Given the description of an element on the screen output the (x, y) to click on. 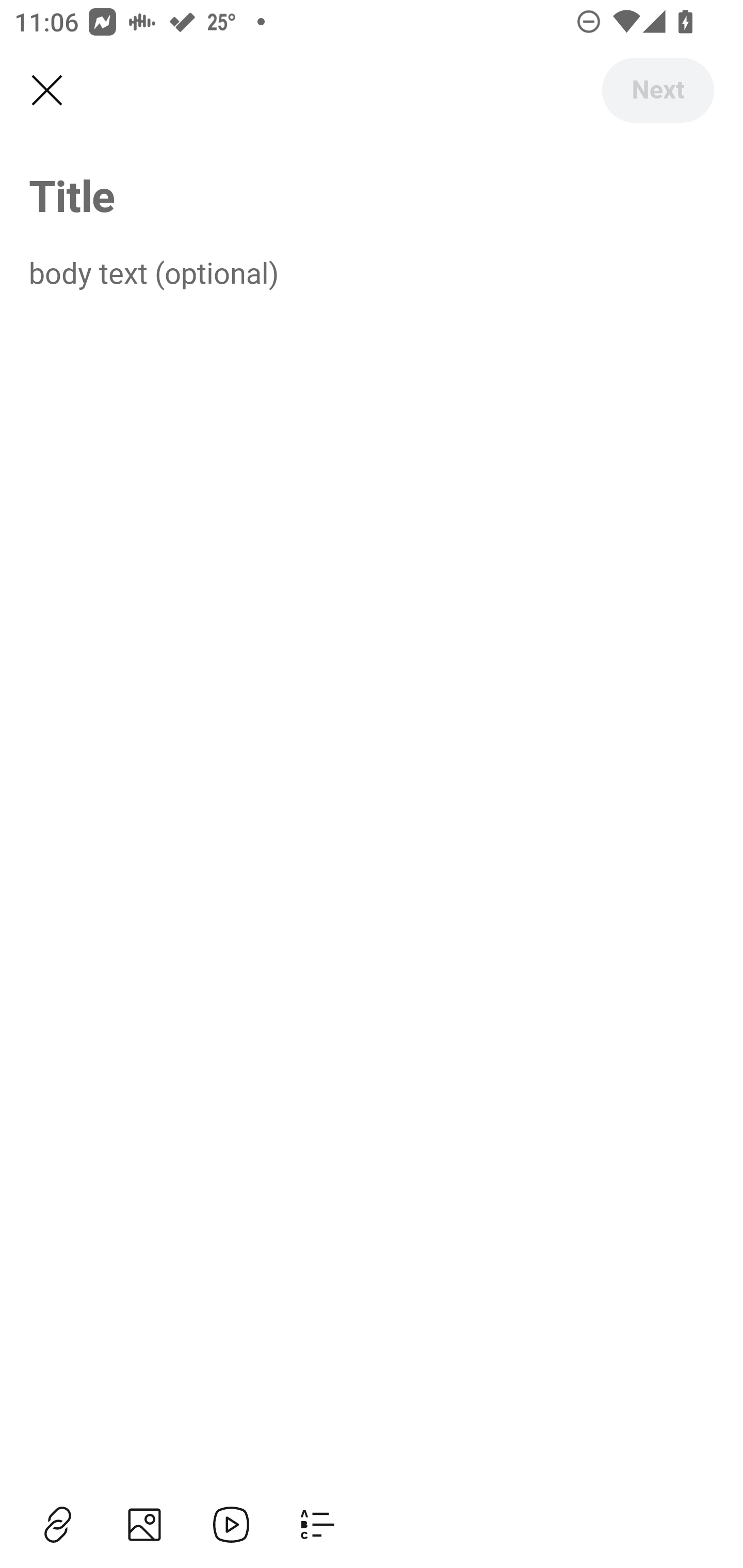
Close (46, 90)
Next (657, 90)
Post title (371, 195)
body text (optional) (371, 271)
